Given the description of an element on the screen output the (x, y) to click on. 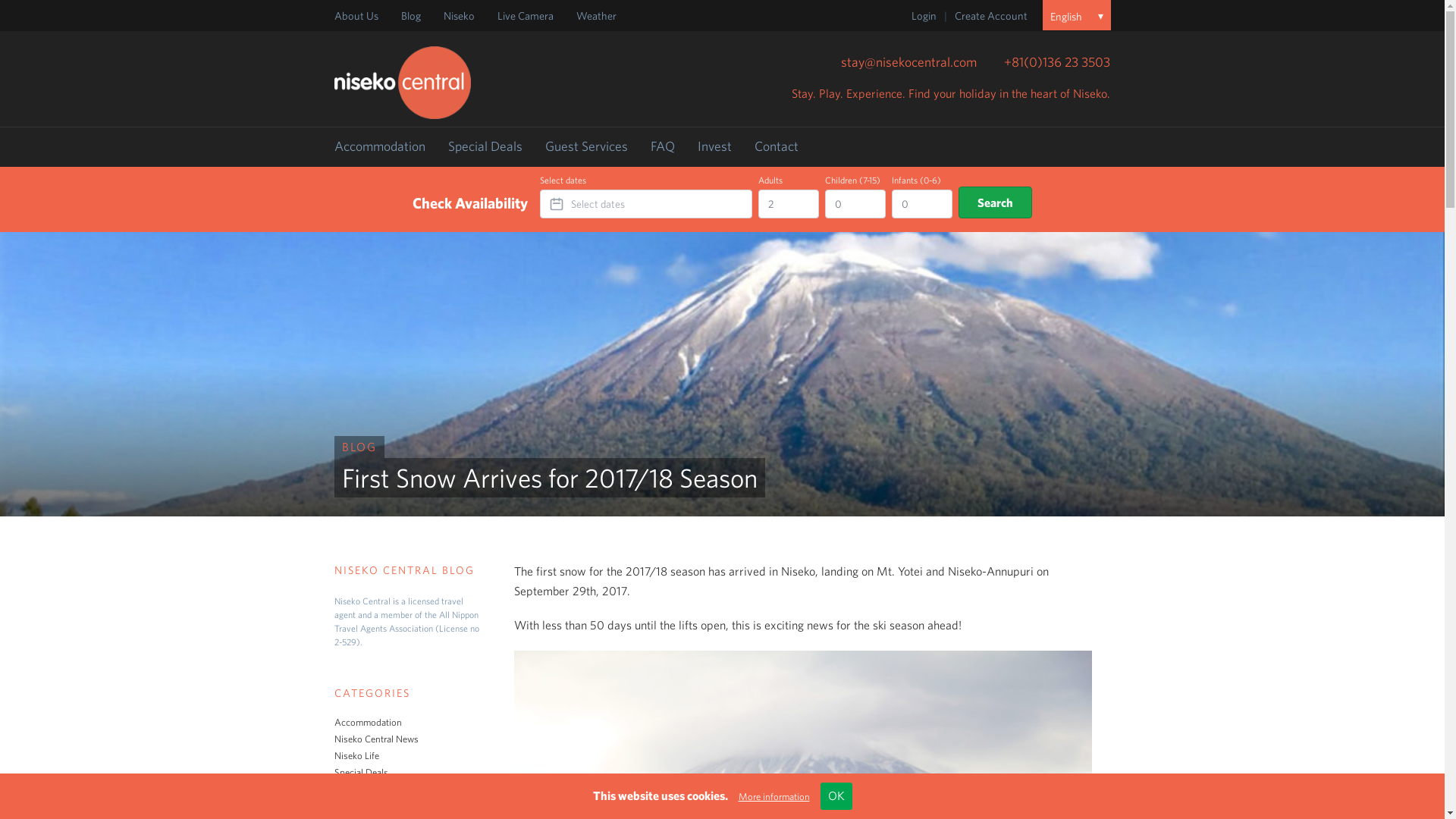
Blog (410, 15)
Accommodation (379, 145)
Niseko (458, 15)
0 (921, 203)
2 (788, 203)
Guest Services (585, 145)
0 (855, 203)
Login (923, 15)
Weather (595, 15)
